Given the description of an element on the screen output the (x, y) to click on. 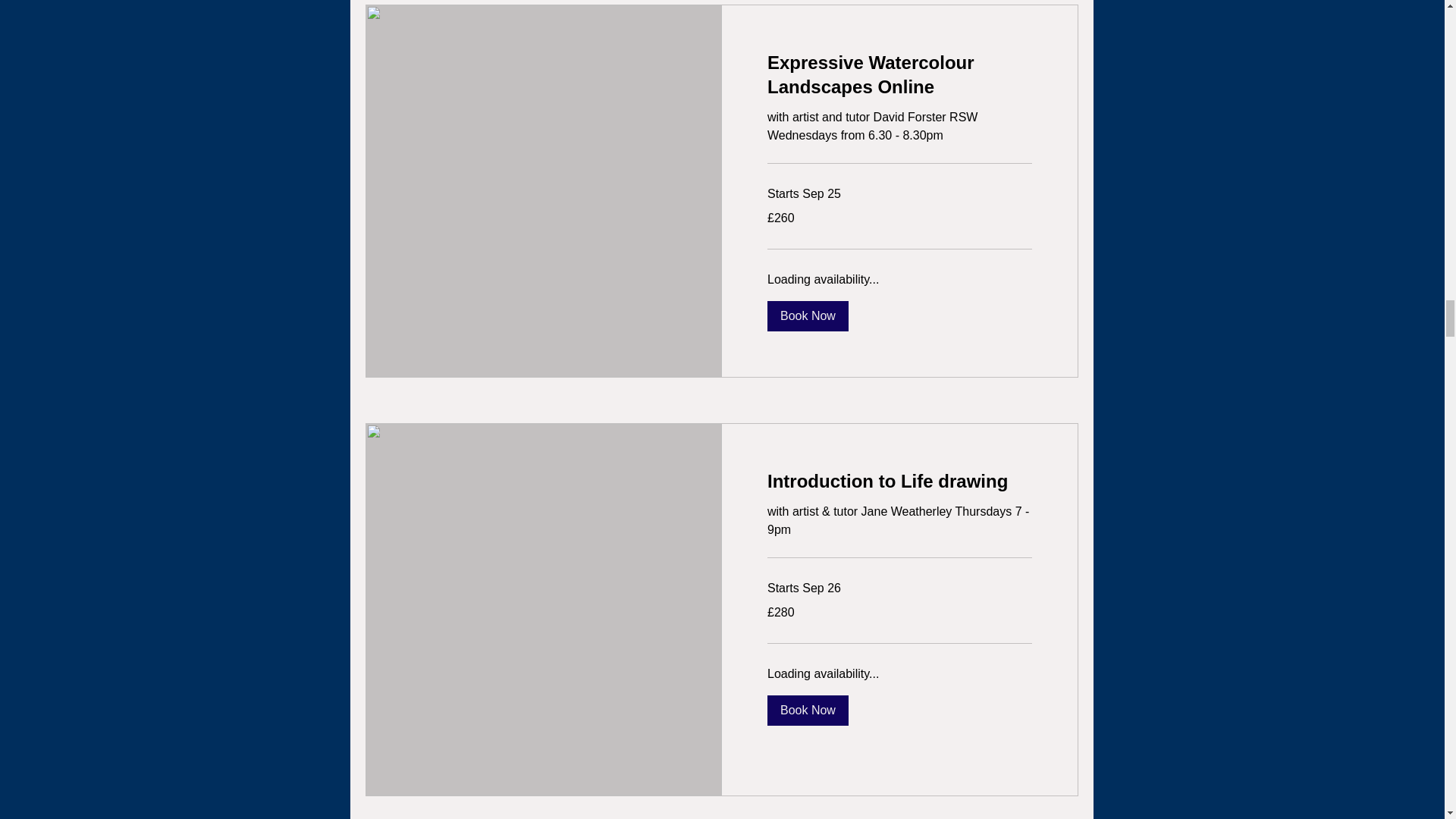
Book Now (807, 316)
Book Now (807, 709)
Introduction to Life drawing (899, 481)
Expressive Watercolour Landscapes Online (899, 74)
